Given the description of an element on the screen output the (x, y) to click on. 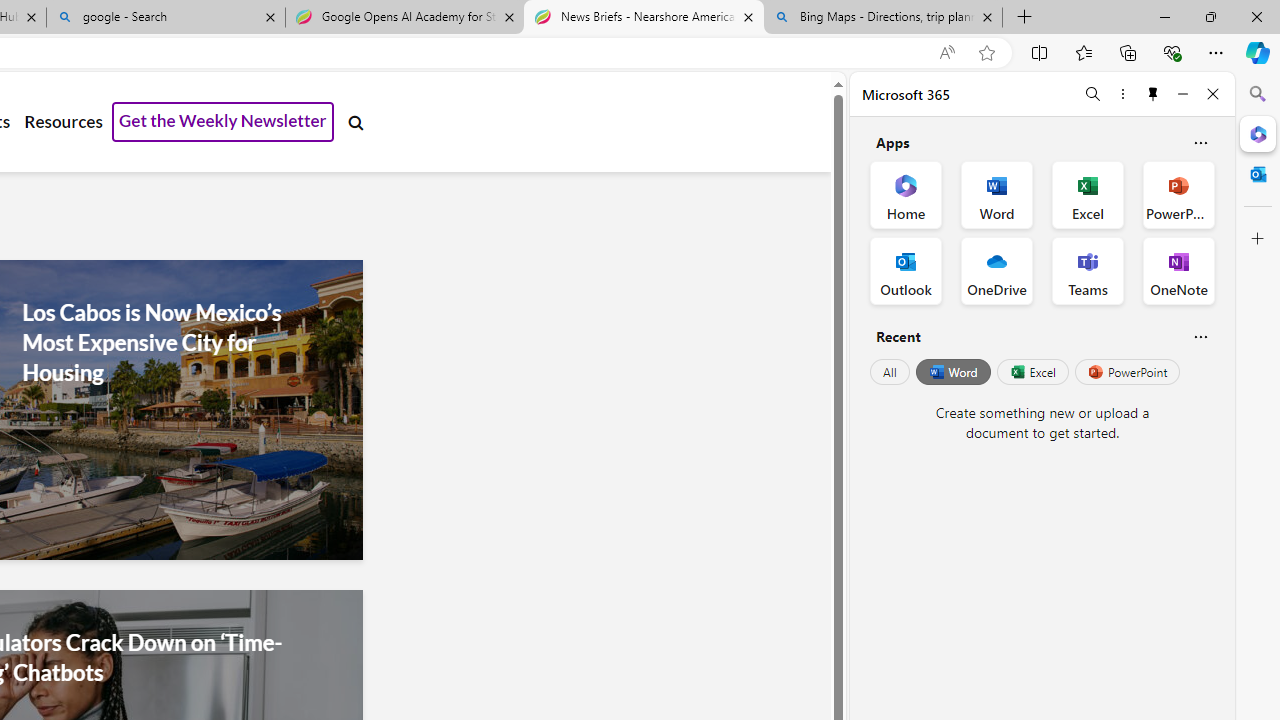
Word (952, 372)
OneNote Office App (1178, 270)
Resources (63, 121)
Home Office App (906, 194)
Outlook Office App (906, 270)
News Briefs - Nearshore Americas (643, 17)
PowerPoint (1127, 372)
Resources (63, 121)
Excel (1031, 372)
Excel Office App (1087, 194)
